Given the description of an element on the screen output the (x, y) to click on. 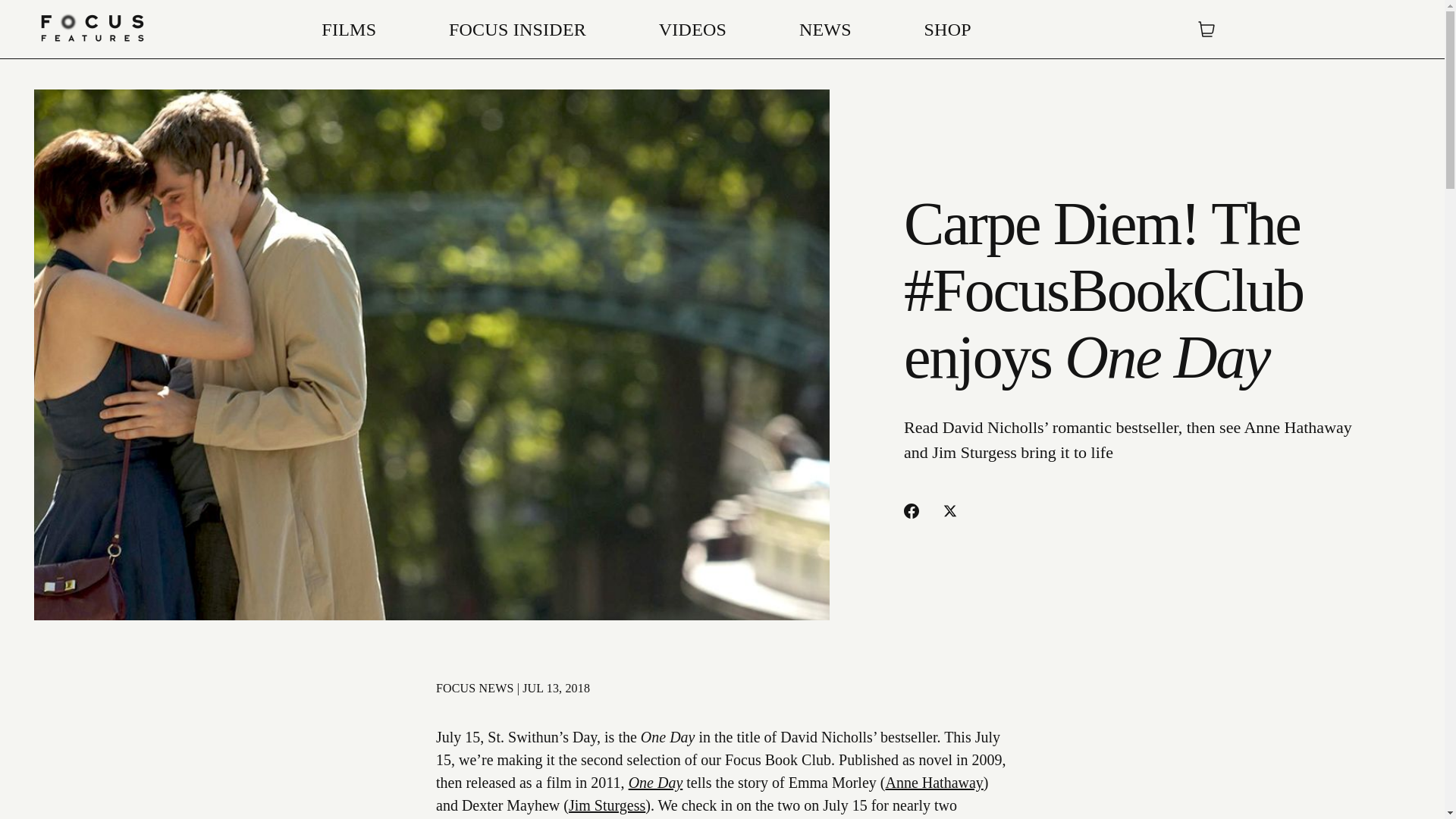
FILMS (348, 28)
Jim Sturgess (607, 805)
VIDEOS (692, 28)
One Day (655, 782)
FOCUS INSIDER (517, 28)
NEWS (825, 28)
SHOP (947, 28)
Anne Hathaway (933, 782)
